Given the description of an element on the screen output the (x, y) to click on. 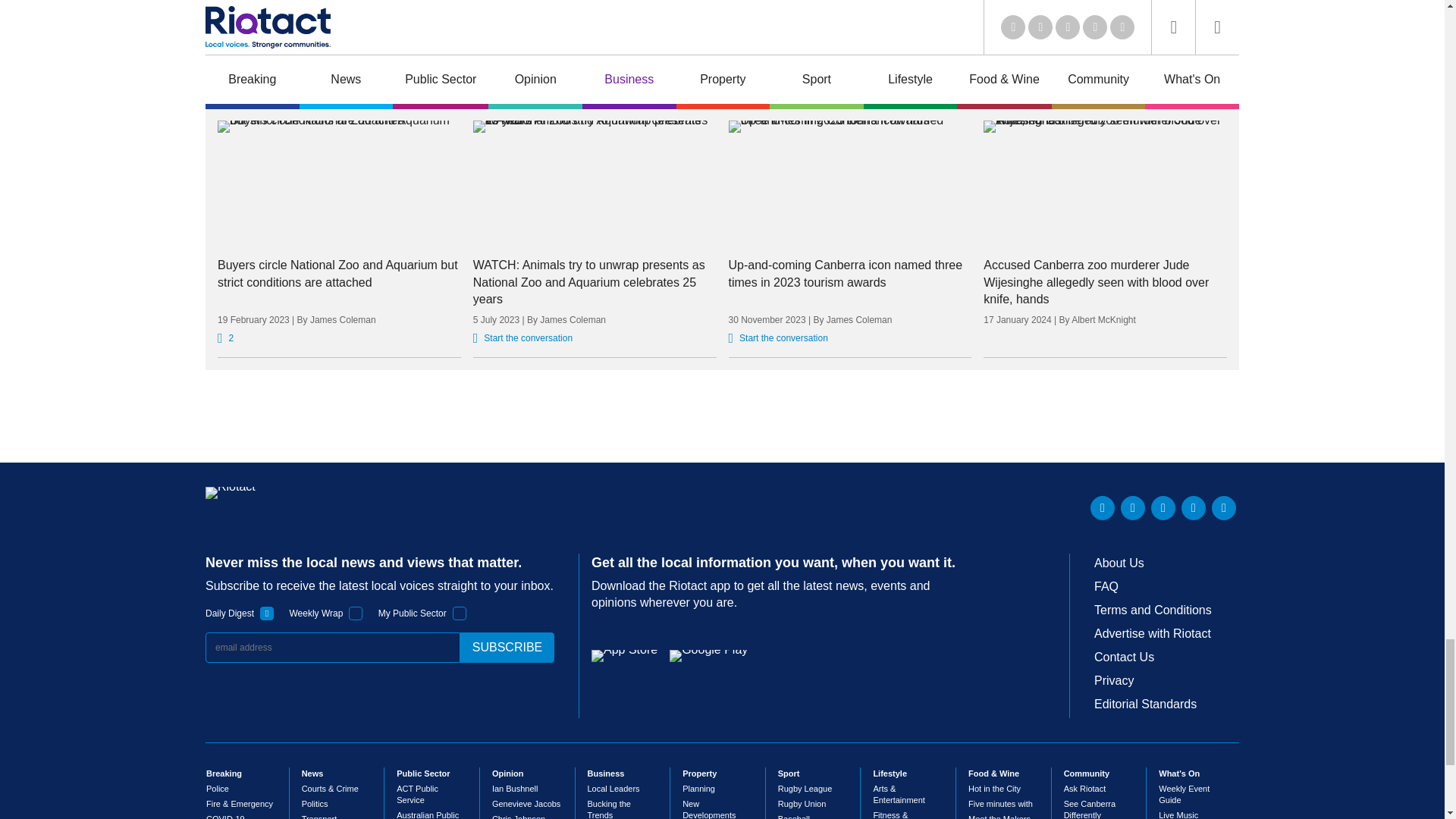
1 (458, 612)
1 (266, 612)
subscribe (507, 647)
Twitter (1132, 508)
1 (355, 612)
LinkedIn (1102, 508)
